Given the description of an element on the screen output the (x, y) to click on. 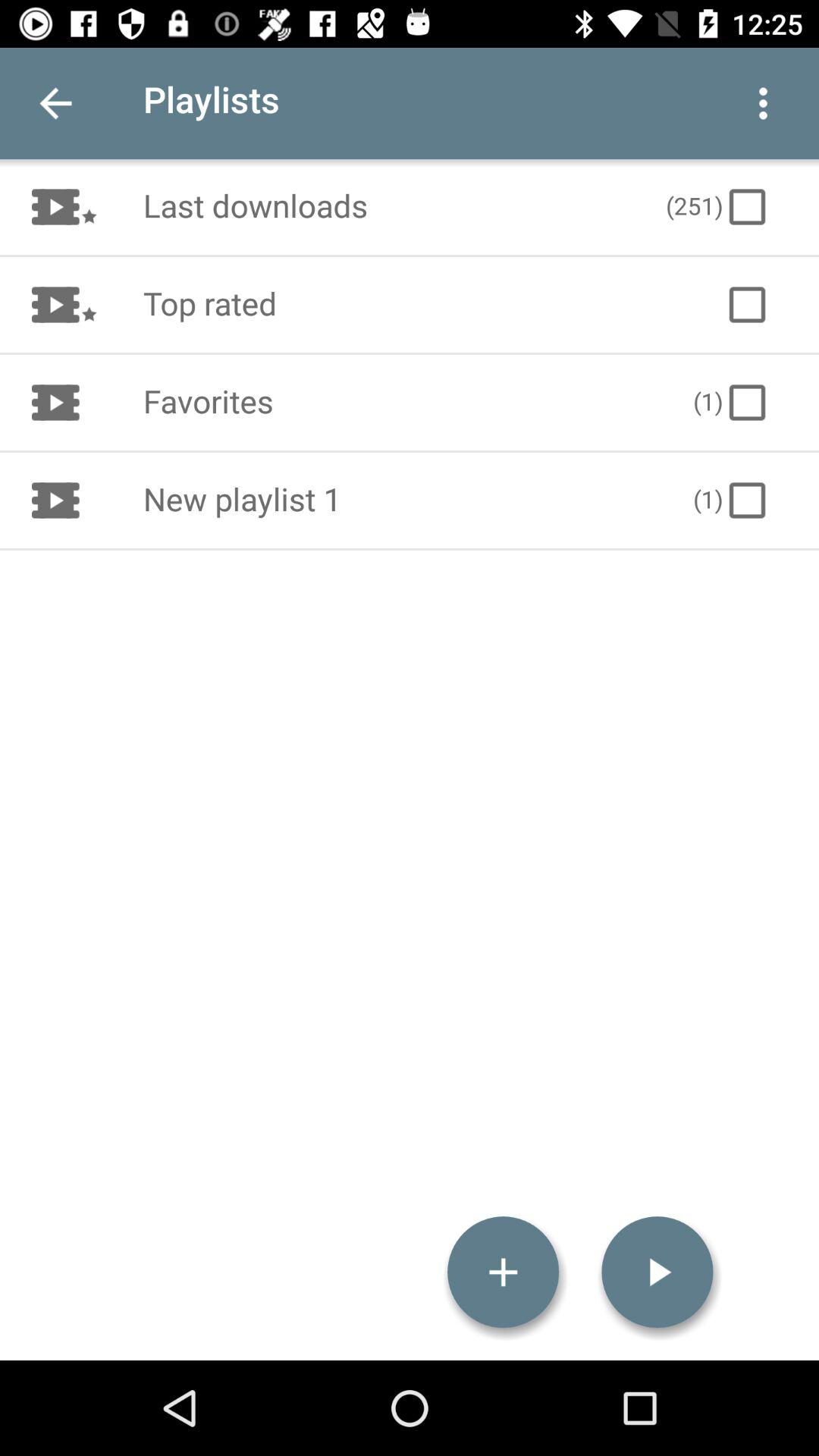
open the item next to (1) (402, 500)
